Given the description of an element on the screen output the (x, y) to click on. 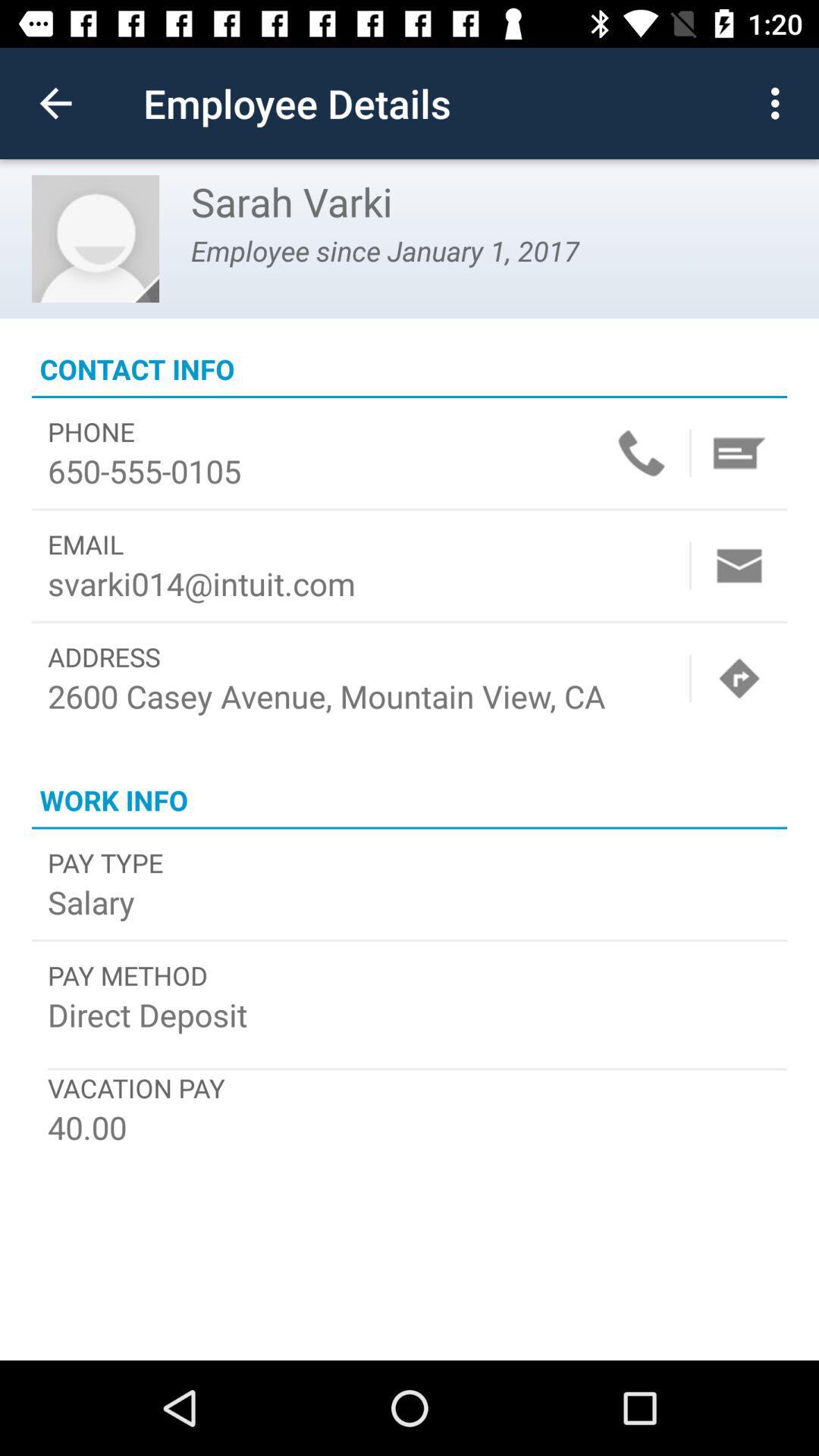
click to see a profile (95, 238)
